Given the description of an element on the screen output the (x, y) to click on. 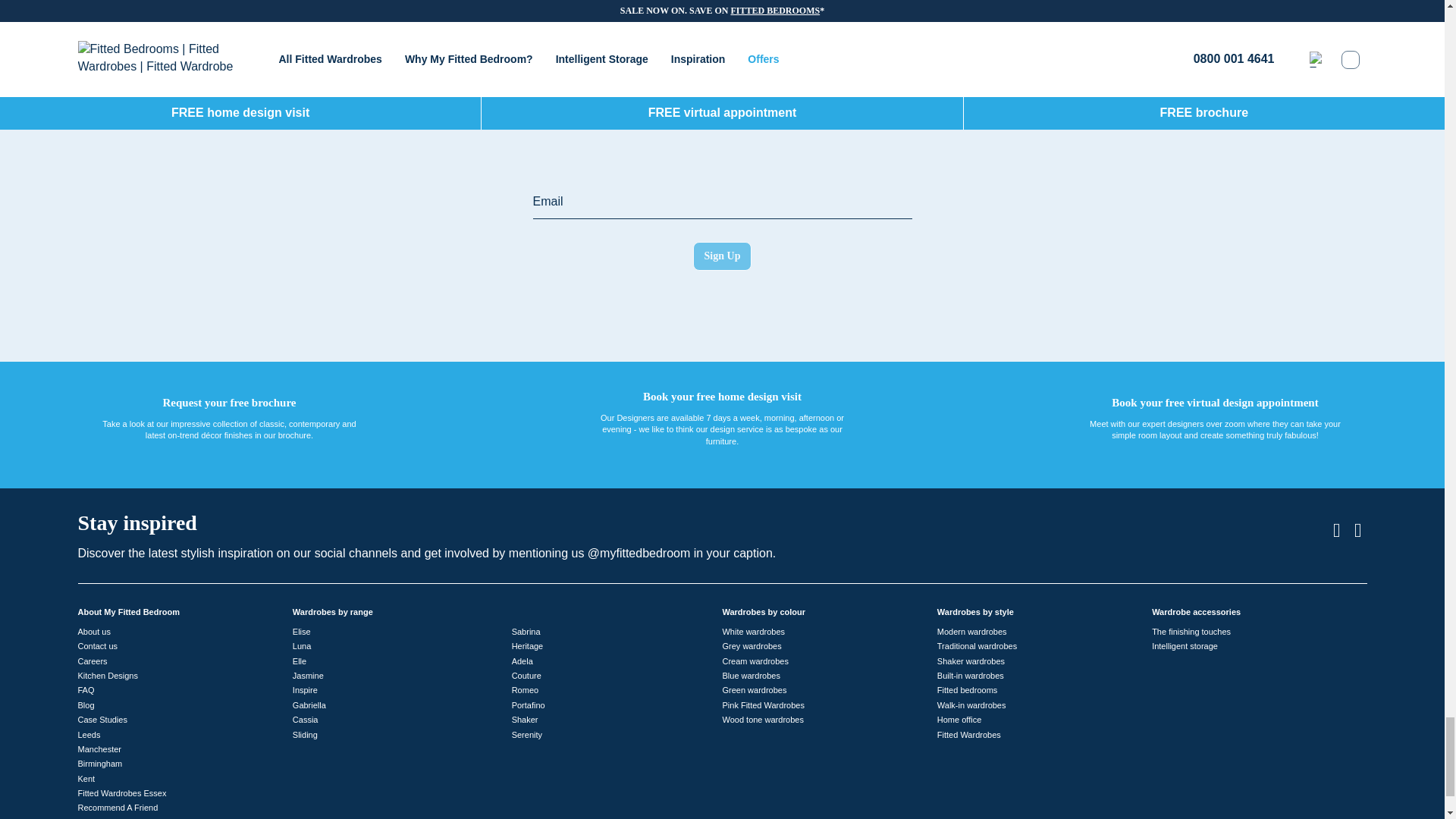
Follow us on Instagram (1336, 530)
Follow us on Facebook (1357, 530)
